Given the description of an element on the screen output the (x, y) to click on. 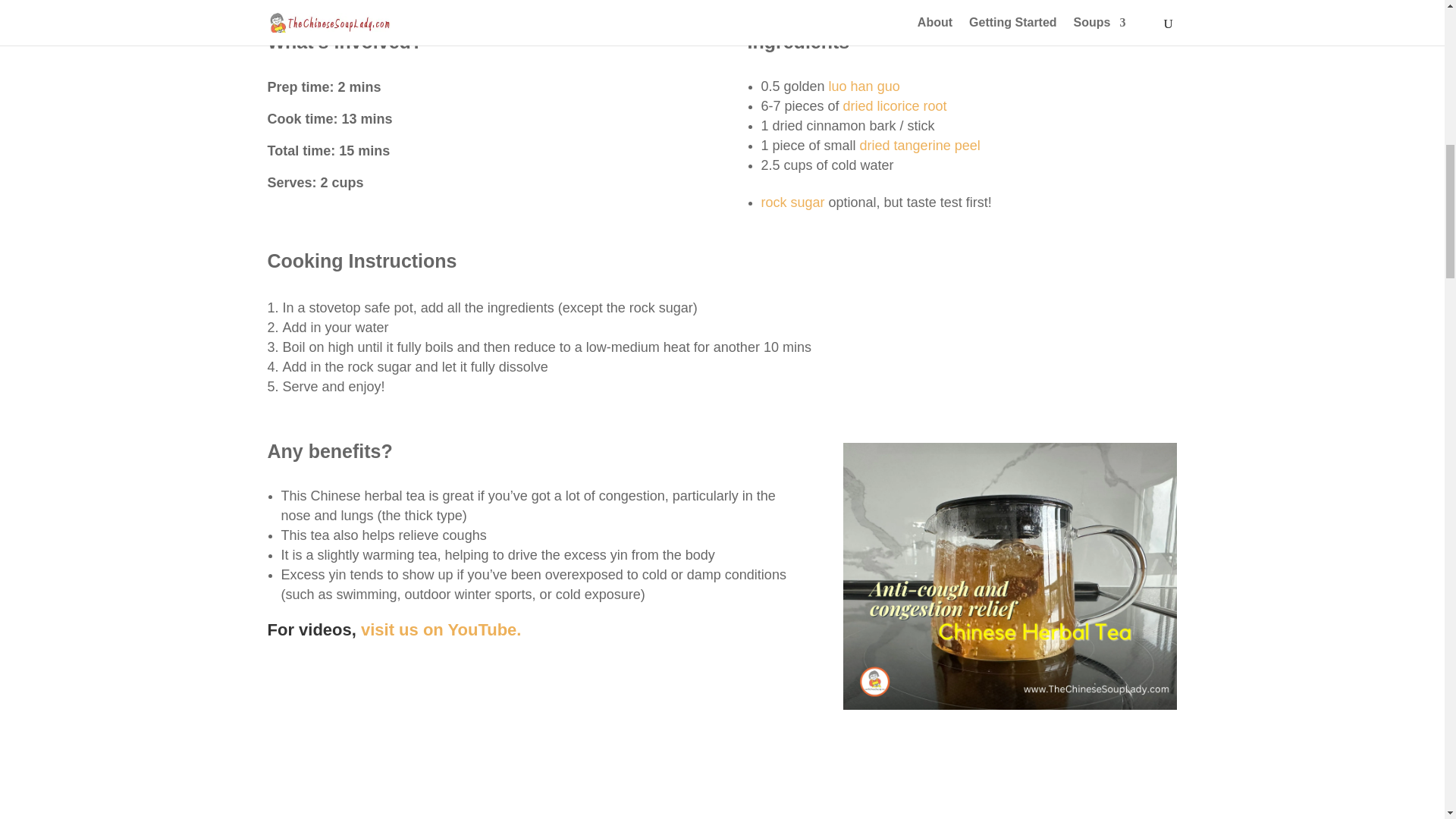
visit us on YouTube. (441, 629)
cough and congestion relief tea (1009, 576)
dried tangerine peel (919, 145)
rock sugar (793, 201)
dried licorice root (895, 105)
luo han guo (863, 86)
